Given the description of an element on the screen output the (x, y) to click on. 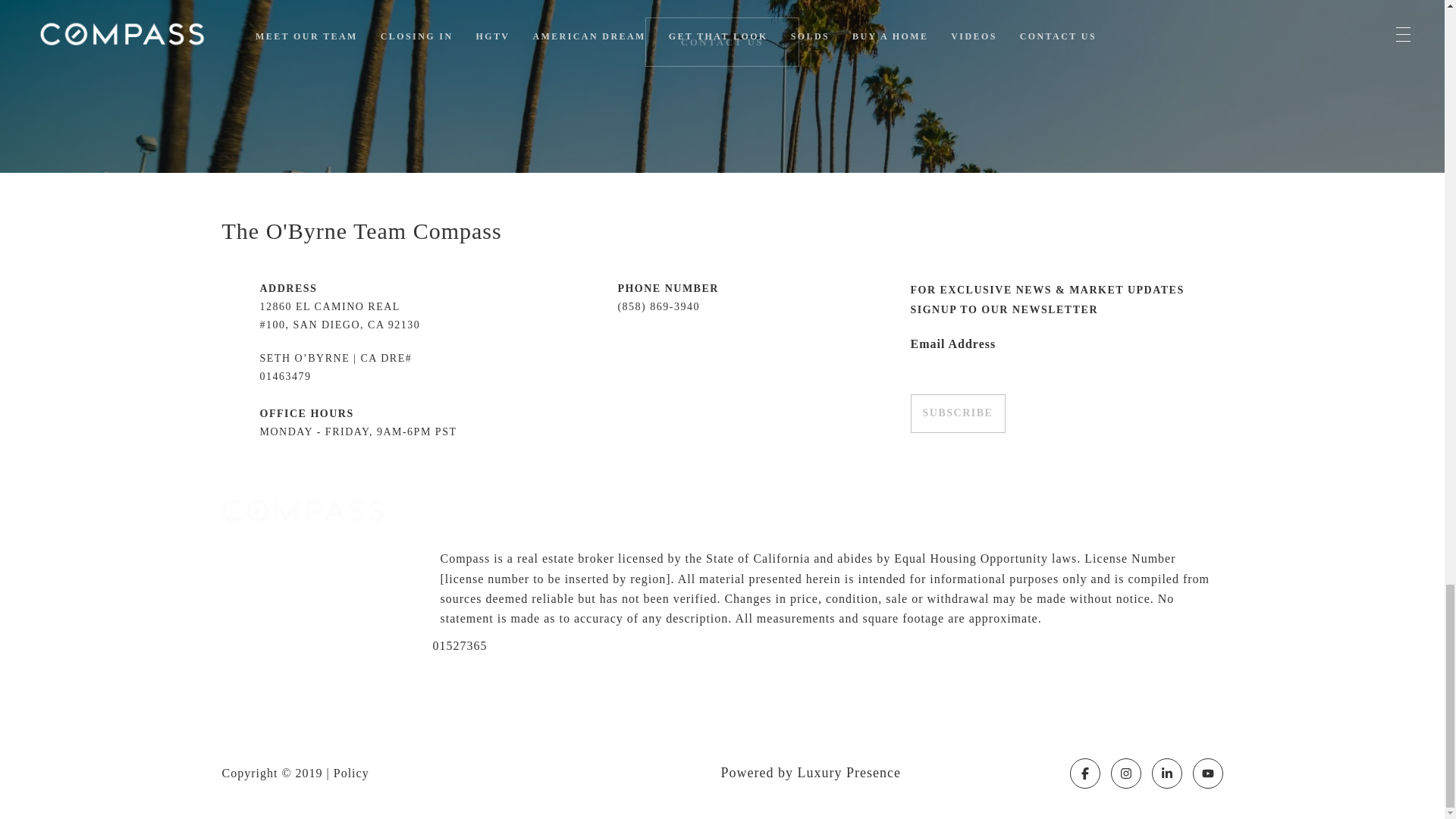
SUBSCRIBE (957, 413)
SUBSCRIBE (957, 413)
CONTACT US (722, 41)
Policy (351, 772)
Luxury Presence (849, 772)
